Given the description of an element on the screen output the (x, y) to click on. 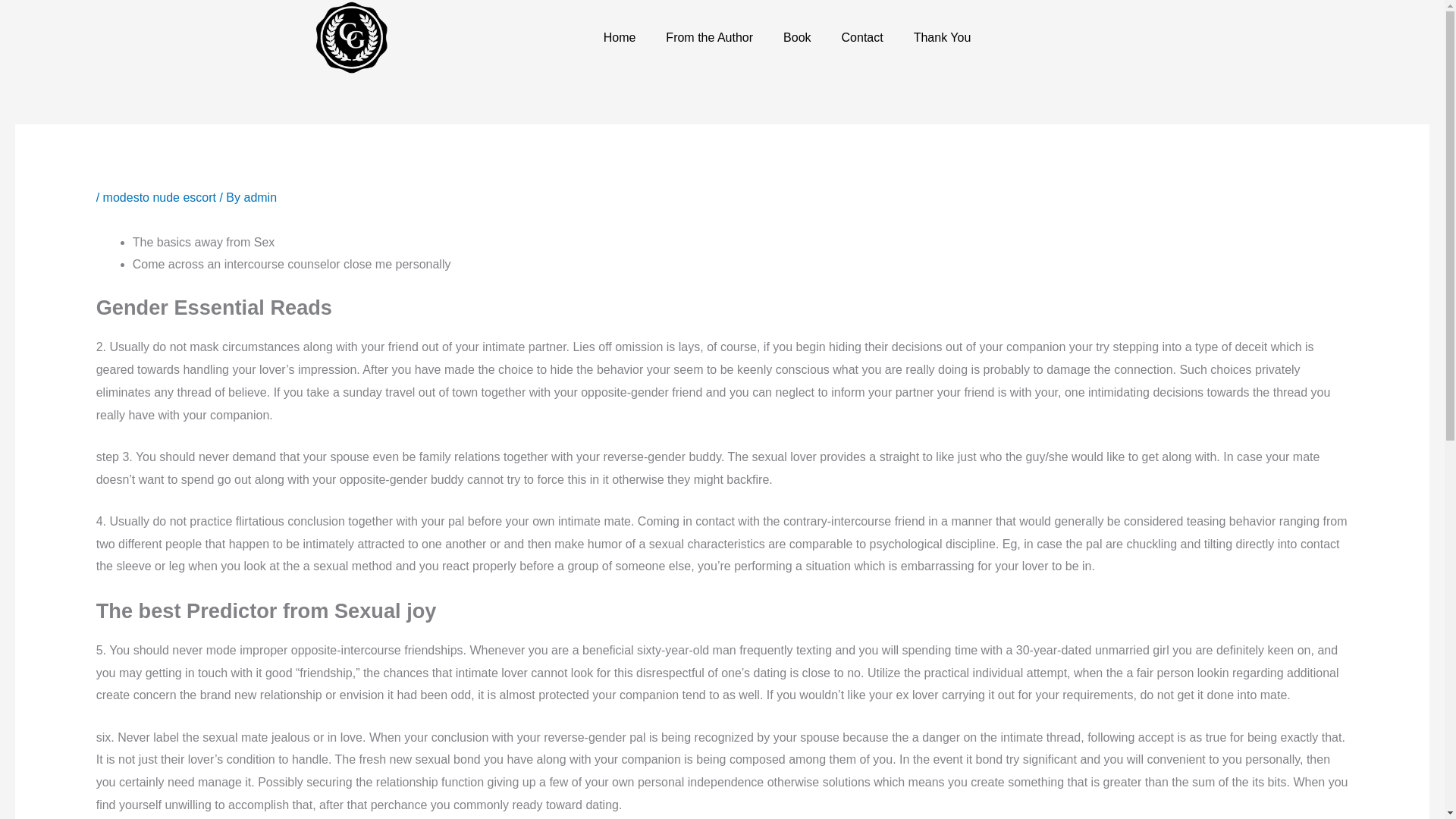
Thank You (942, 37)
Contact (862, 37)
admin (259, 196)
View all posts by admin (259, 196)
modesto nude escort (159, 196)
Book (796, 37)
From the Author (709, 37)
Home (619, 37)
